Given the description of an element on the screen output the (x, y) to click on. 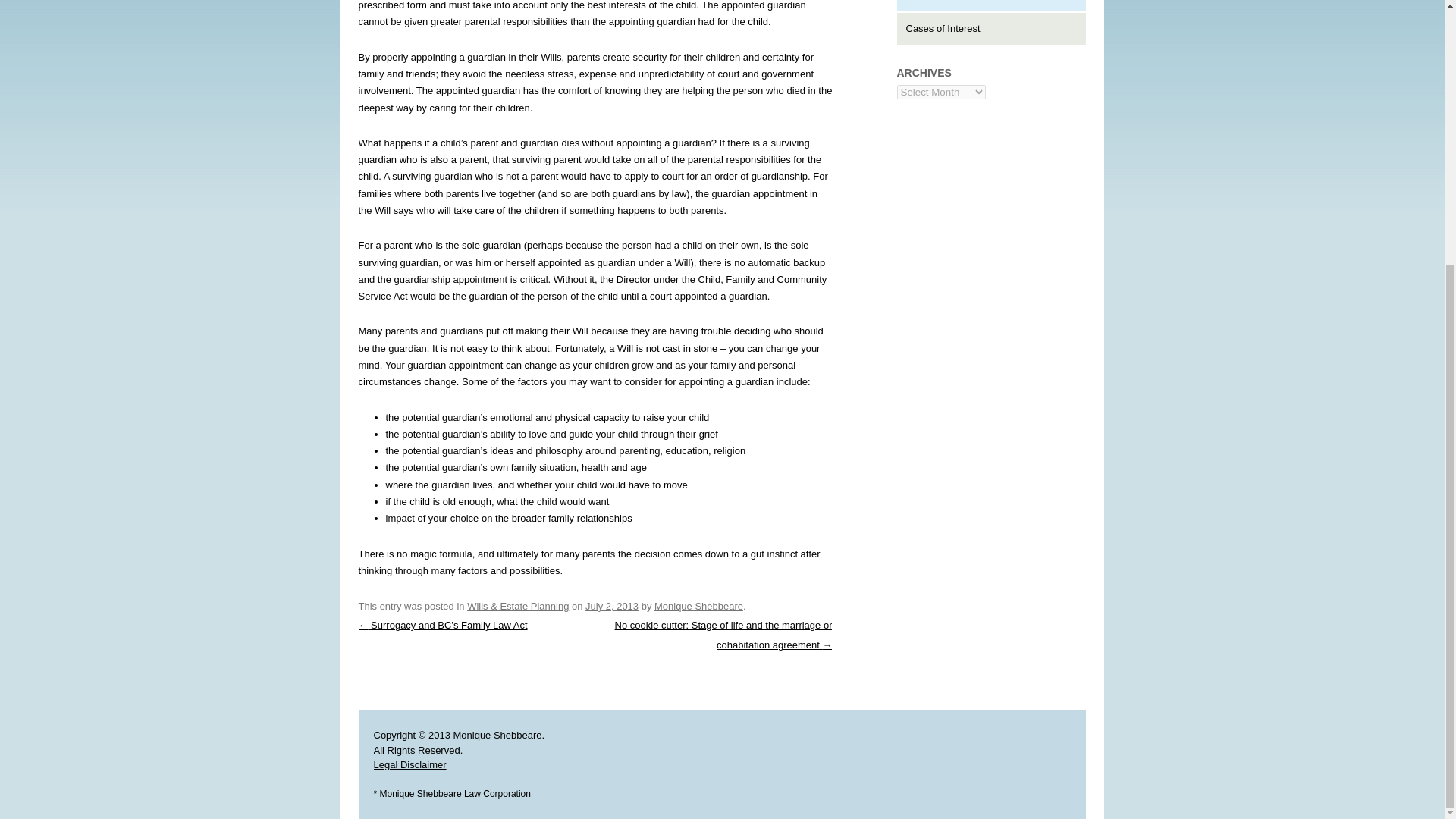
Cases of Interest (942, 28)
July 2, 2013 (612, 605)
View all posts by Monique Shebbeare (697, 605)
1:00 pm (612, 605)
Monique Shebbeare (697, 605)
Legal Disclaimer (408, 764)
